Given the description of an element on the screen output the (x, y) to click on. 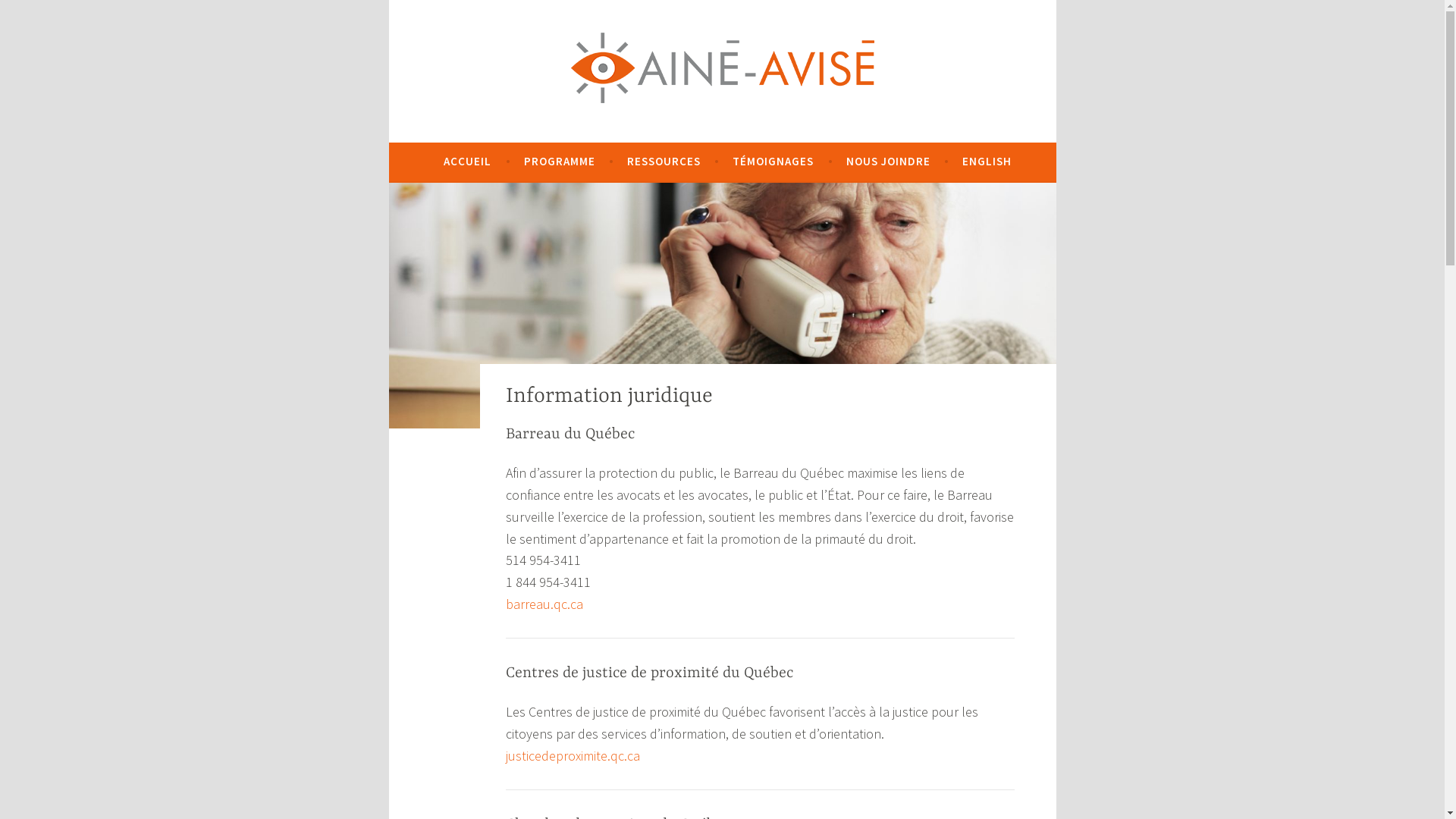
NOUS JOINDRE Element type: text (888, 161)
PROGRAMME Element type: text (559, 161)
ENGLISH Element type: text (986, 161)
justicedeproximite.qc.ca Element type: text (572, 755)
barreau.qc.ca Element type: text (544, 603)
ACCUEIL Element type: text (467, 161)
RESSOURCES Element type: text (663, 161)
